Given the description of an element on the screen output the (x, y) to click on. 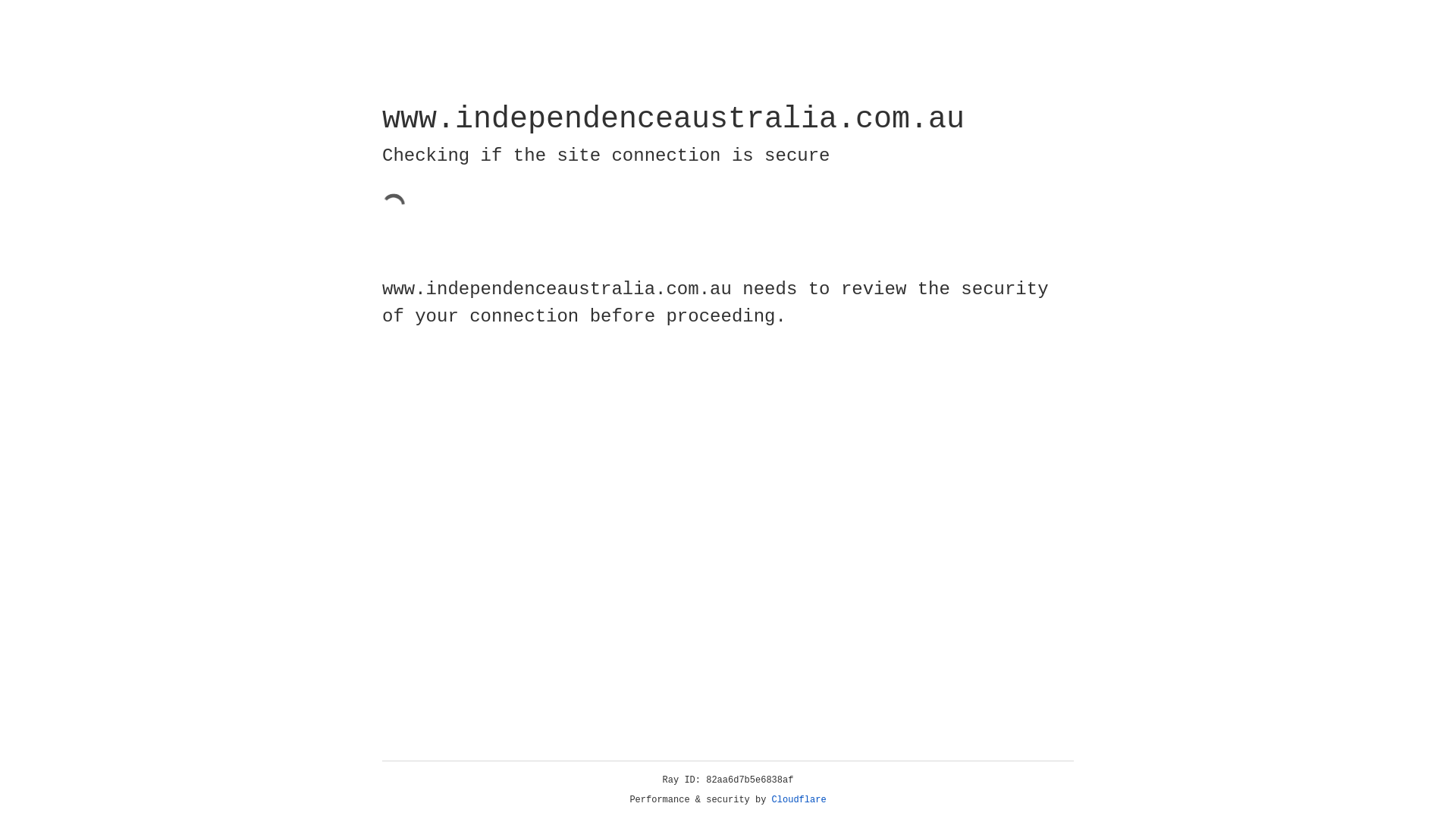
Cloudflare Element type: text (798, 799)
